Given the description of an element on the screen output the (x, y) to click on. 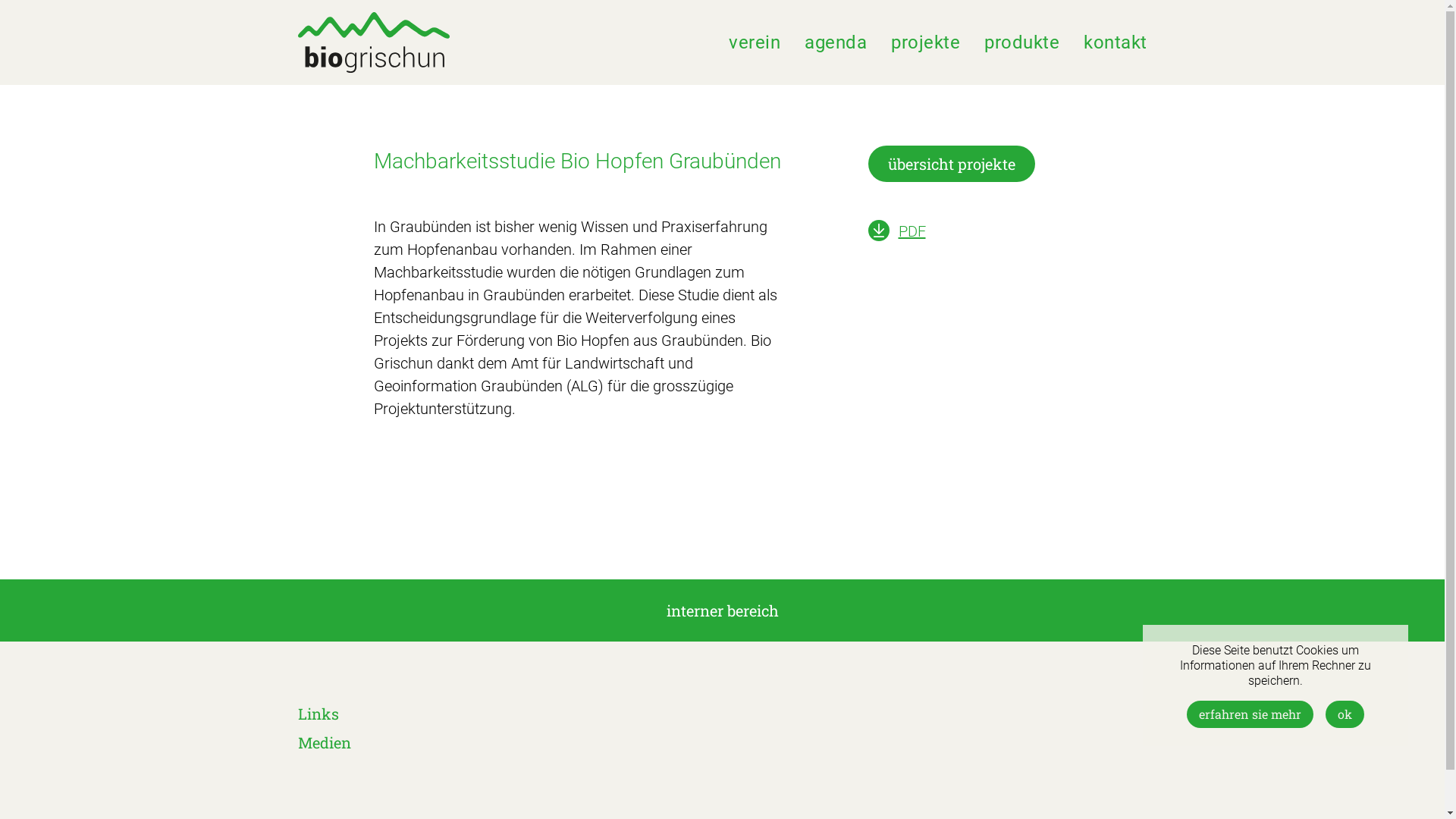
interner bereich Element type: text (722, 610)
produkte Element type: text (1021, 42)
PDF Element type: text (911, 231)
agenda Element type: text (835, 42)
erfahren sie mehr Element type: text (1249, 714)
Links Element type: text (317, 713)
ok Element type: text (1344, 714)
kontakt Element type: text (1115, 42)
Medien Element type: text (323, 742)
projekte Element type: text (925, 42)
verein Element type: text (754, 42)
